Given the description of an element on the screen output the (x, y) to click on. 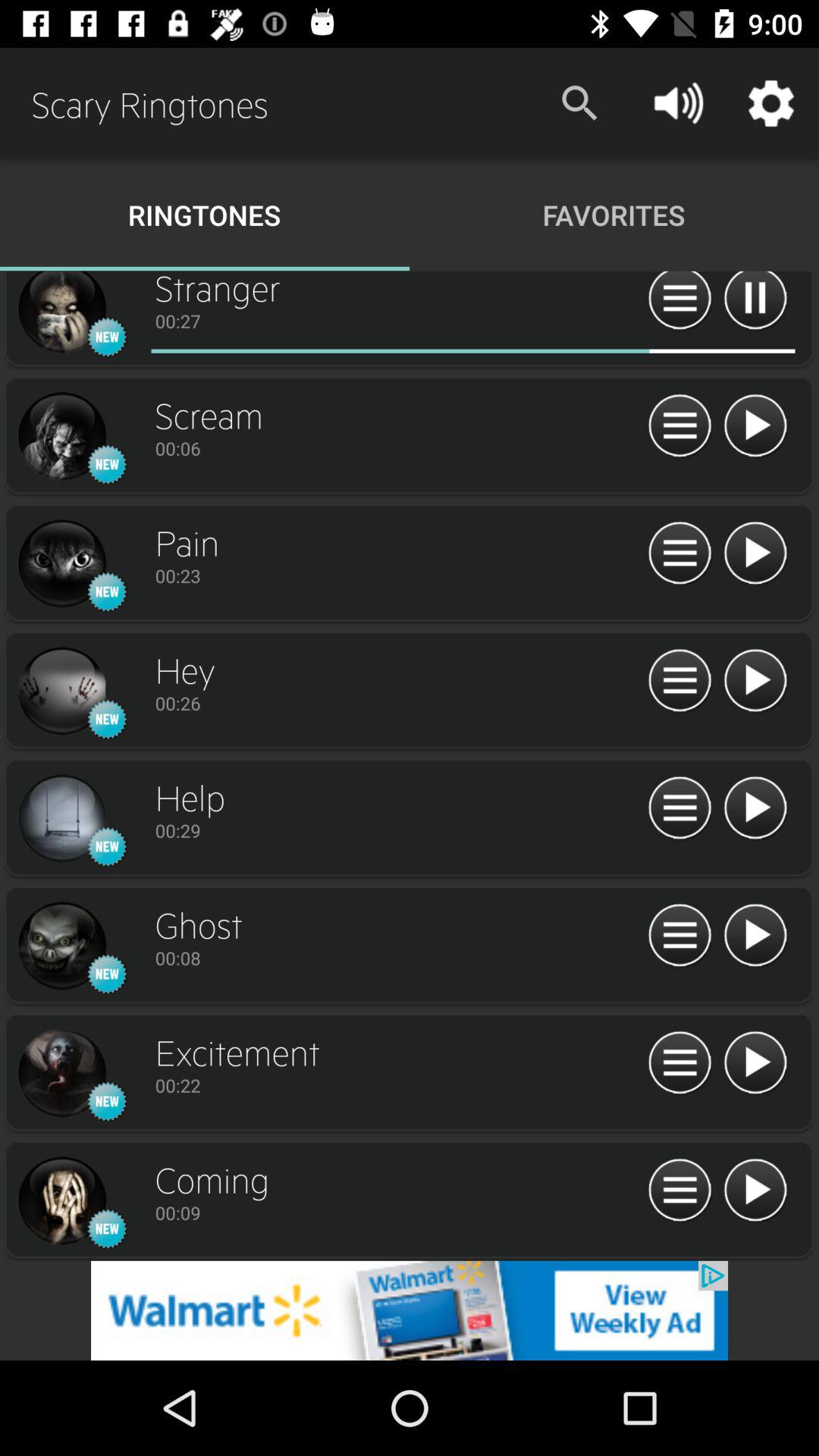
menu ringtone (679, 1063)
